Given the description of an element on the screen output the (x, y) to click on. 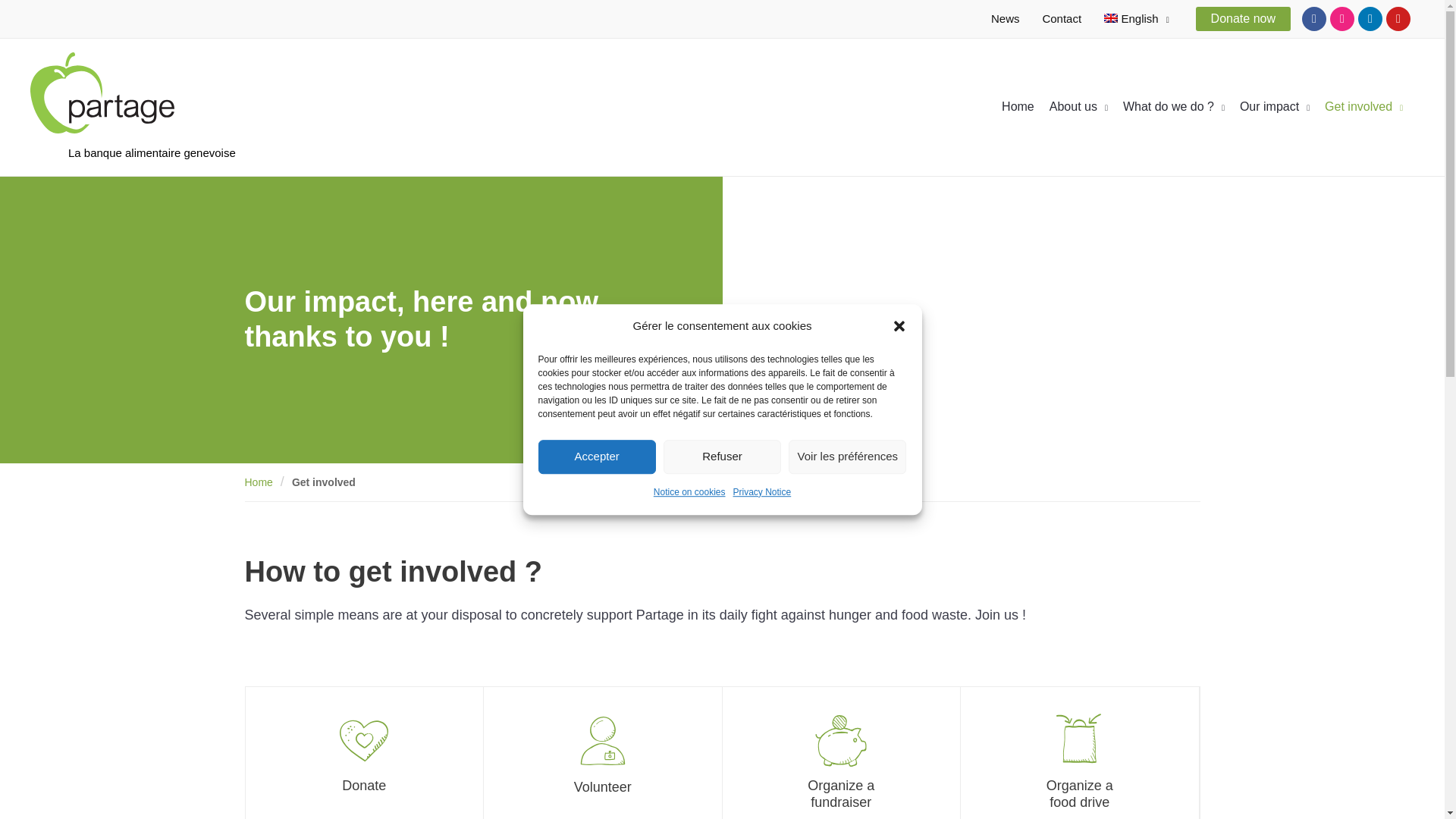
Our impact (1282, 106)
News (1004, 18)
Privacy Notice (762, 492)
Youtube (1398, 18)
Refuser (721, 456)
What do we do ? (1181, 106)
Linkedin (1369, 18)
About us (1085, 106)
Instagram (1342, 18)
Donate now (1242, 18)
Accepter (597, 456)
Get involved (323, 482)
Notice on cookies (689, 492)
Facebook (1313, 18)
English (1136, 18)
